Given the description of an element on the screen output the (x, y) to click on. 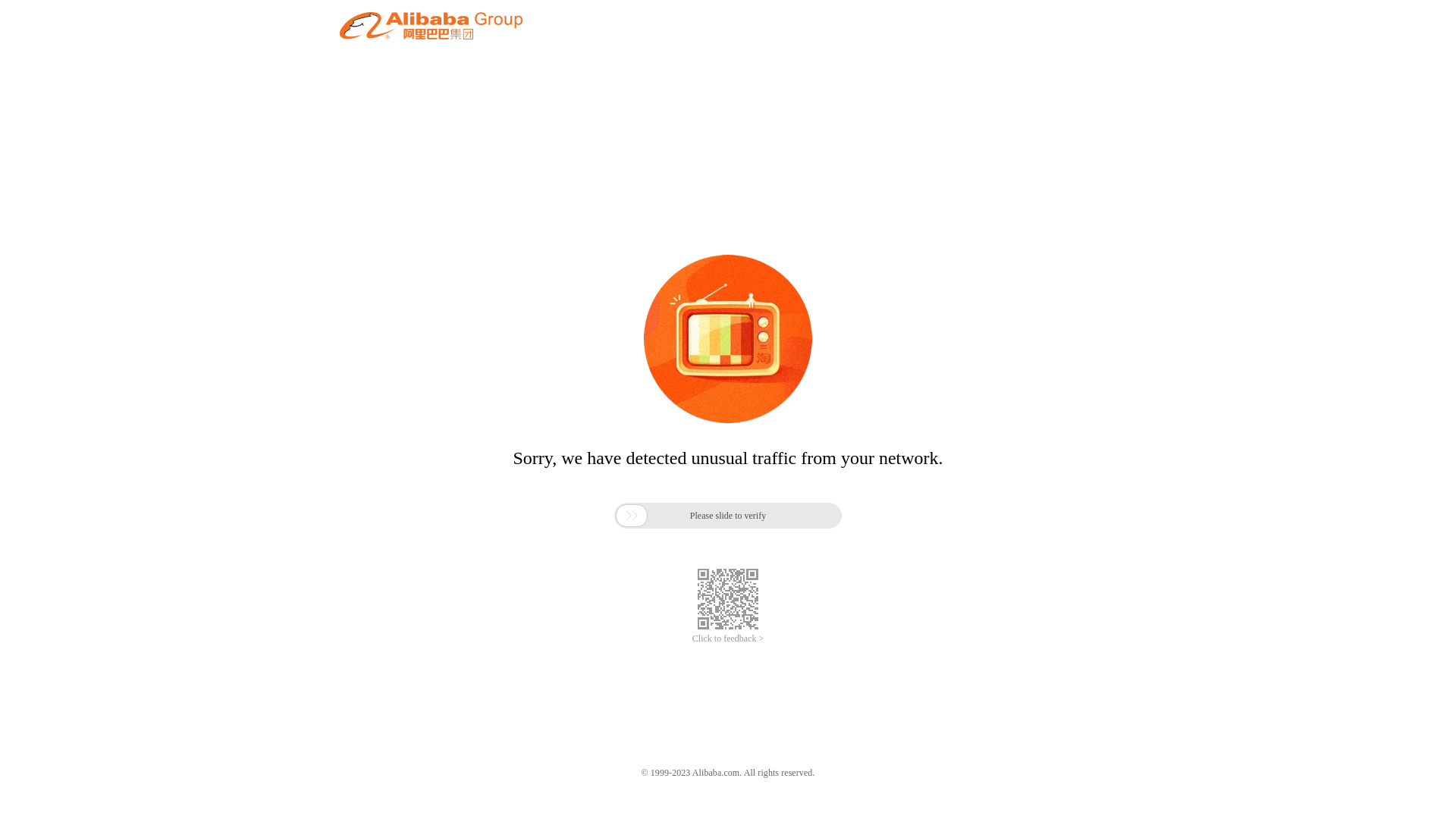
Click to feedback > Element type: text (727, 638)
